Given the description of an element on the screen output the (x, y) to click on. 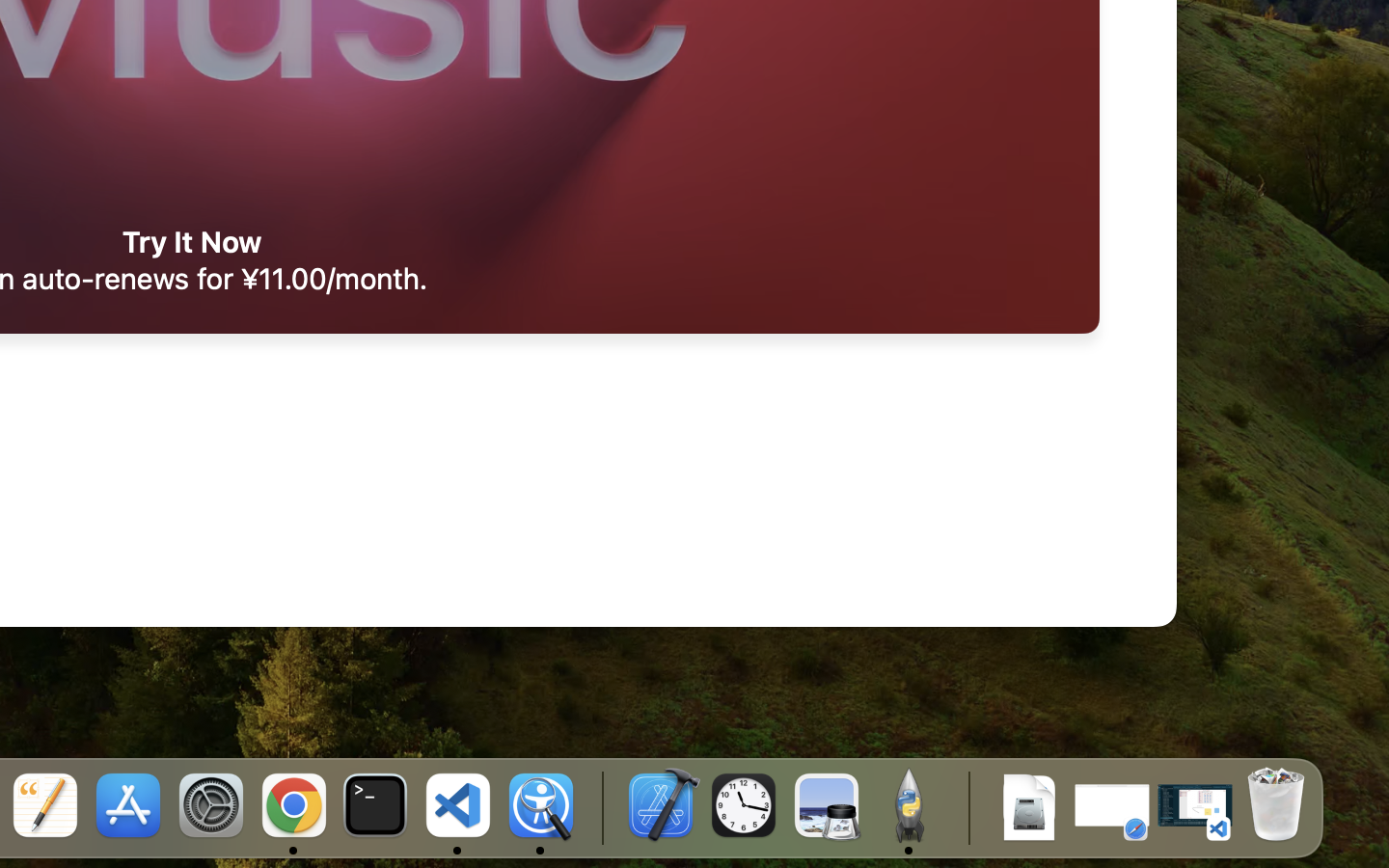
Try It Now Element type: AXStaticText (191, 241)
